Given the description of an element on the screen output the (x, y) to click on. 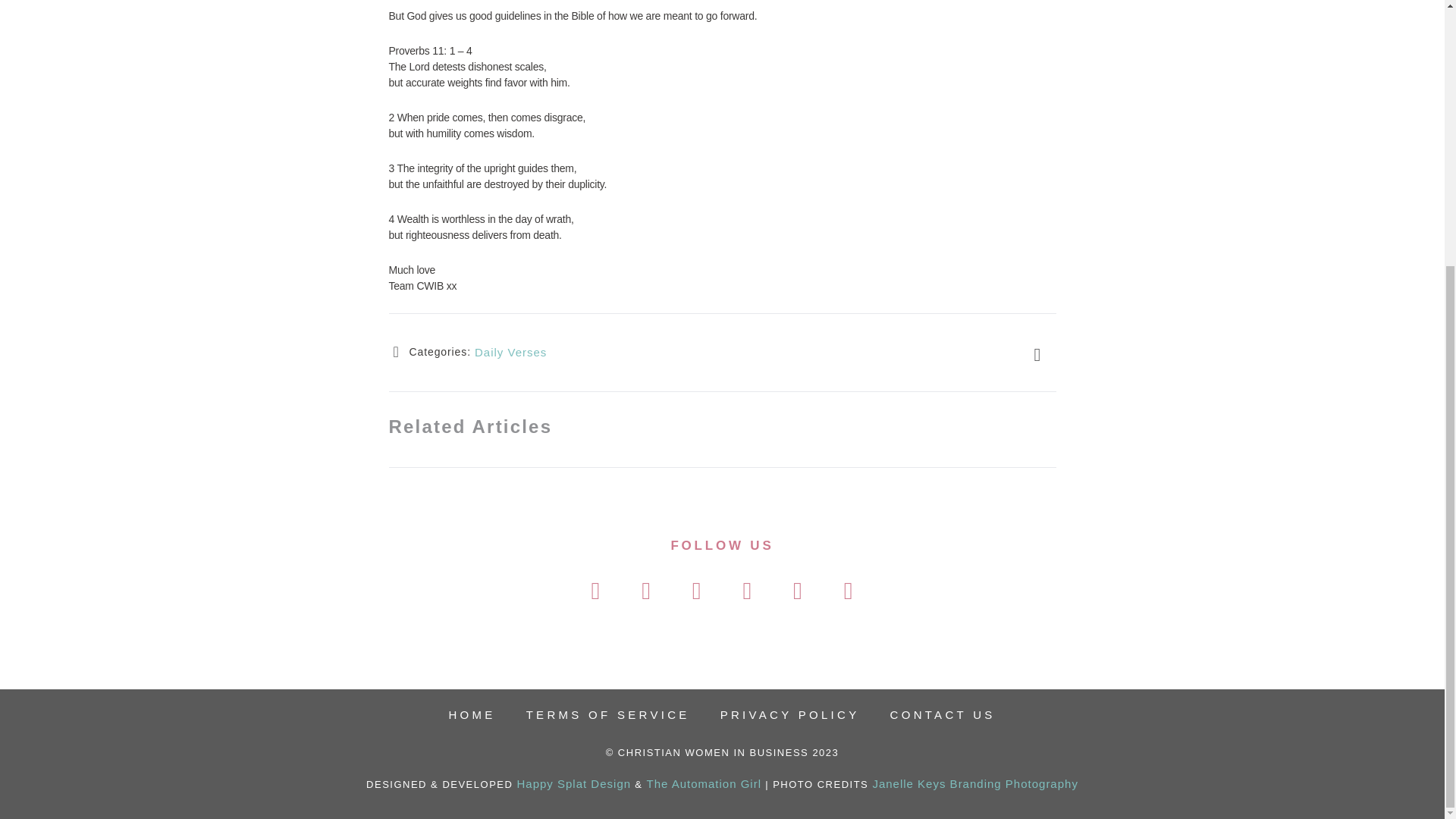
Daily Verses (510, 351)
